Given the description of an element on the screen output the (x, y) to click on. 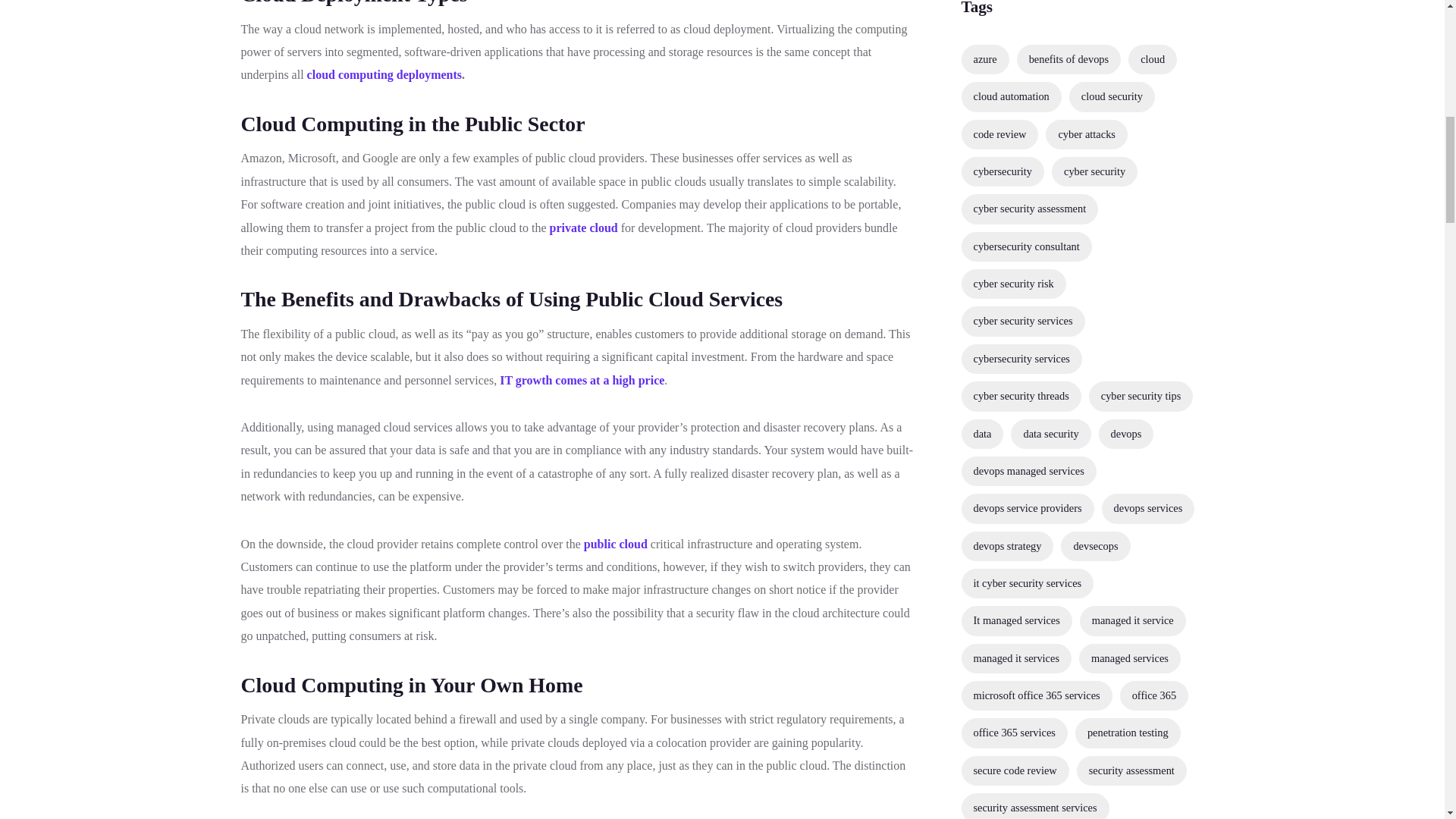
IT growth comes at a high price (581, 379)
private cloud (582, 227)
public cloud (615, 543)
cloud computing deployments (384, 74)
